Given the description of an element on the screen output the (x, y) to click on. 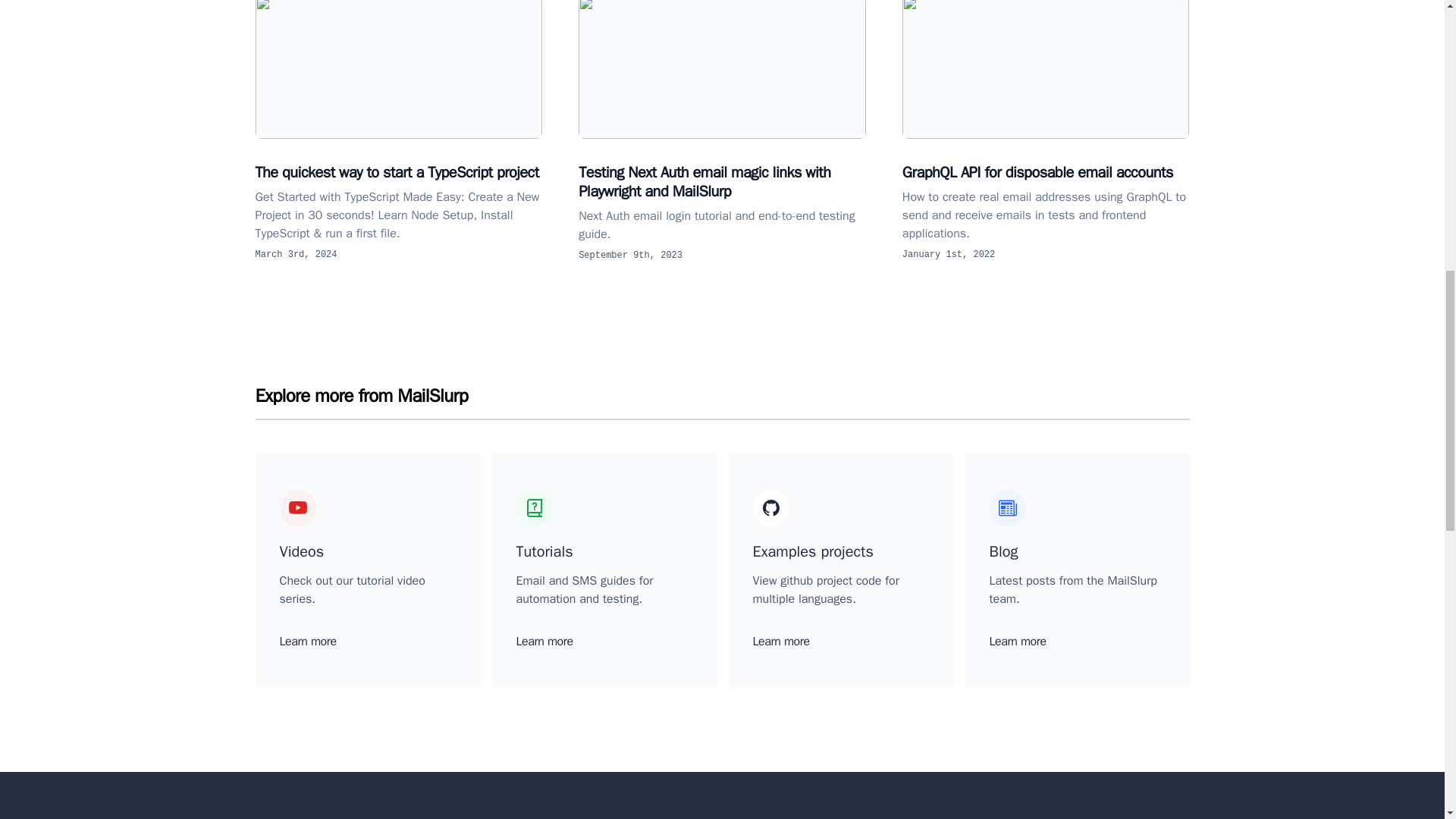
Learn more (780, 641)
Learn more (1016, 641)
Learn more (307, 641)
Tutorials (543, 551)
The quickest way to start a TypeScript project (396, 171)
The quickest way to start a TypeScript project (397, 69)
Examples projects (812, 551)
Blog (1002, 551)
